Given the description of an element on the screen output the (x, y) to click on. 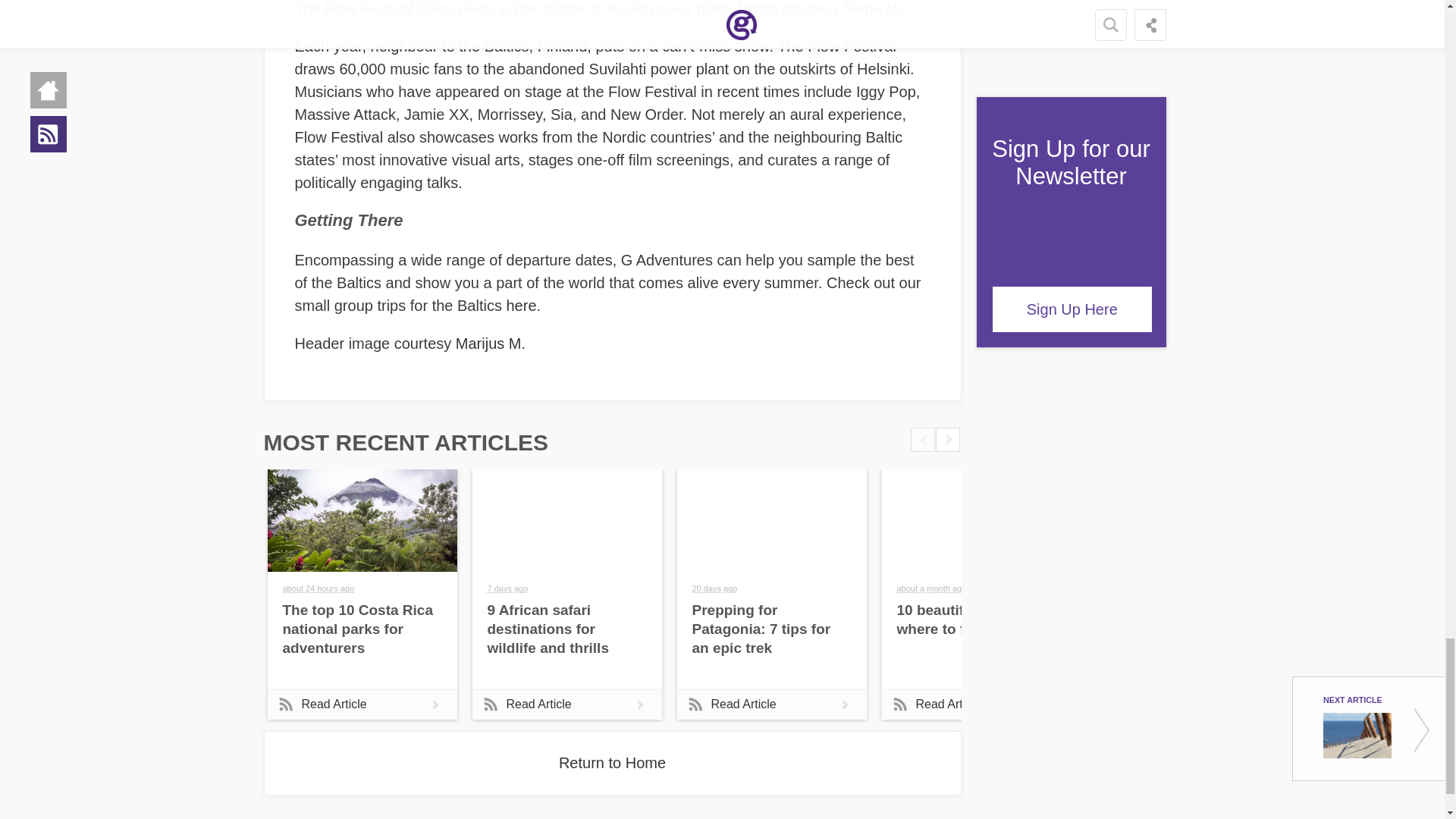
Read Article (566, 704)
2024-08-11T10:32:00 (317, 587)
here (521, 305)
Read Article (771, 704)
Read Article (975, 704)
Marijus M (488, 343)
Maria M. (872, 8)
2024-08-05T18:27:00 (506, 587)
Read Article (361, 704)
2024-07-23T14:11:00 (713, 587)
